Given the description of an element on the screen output the (x, y) to click on. 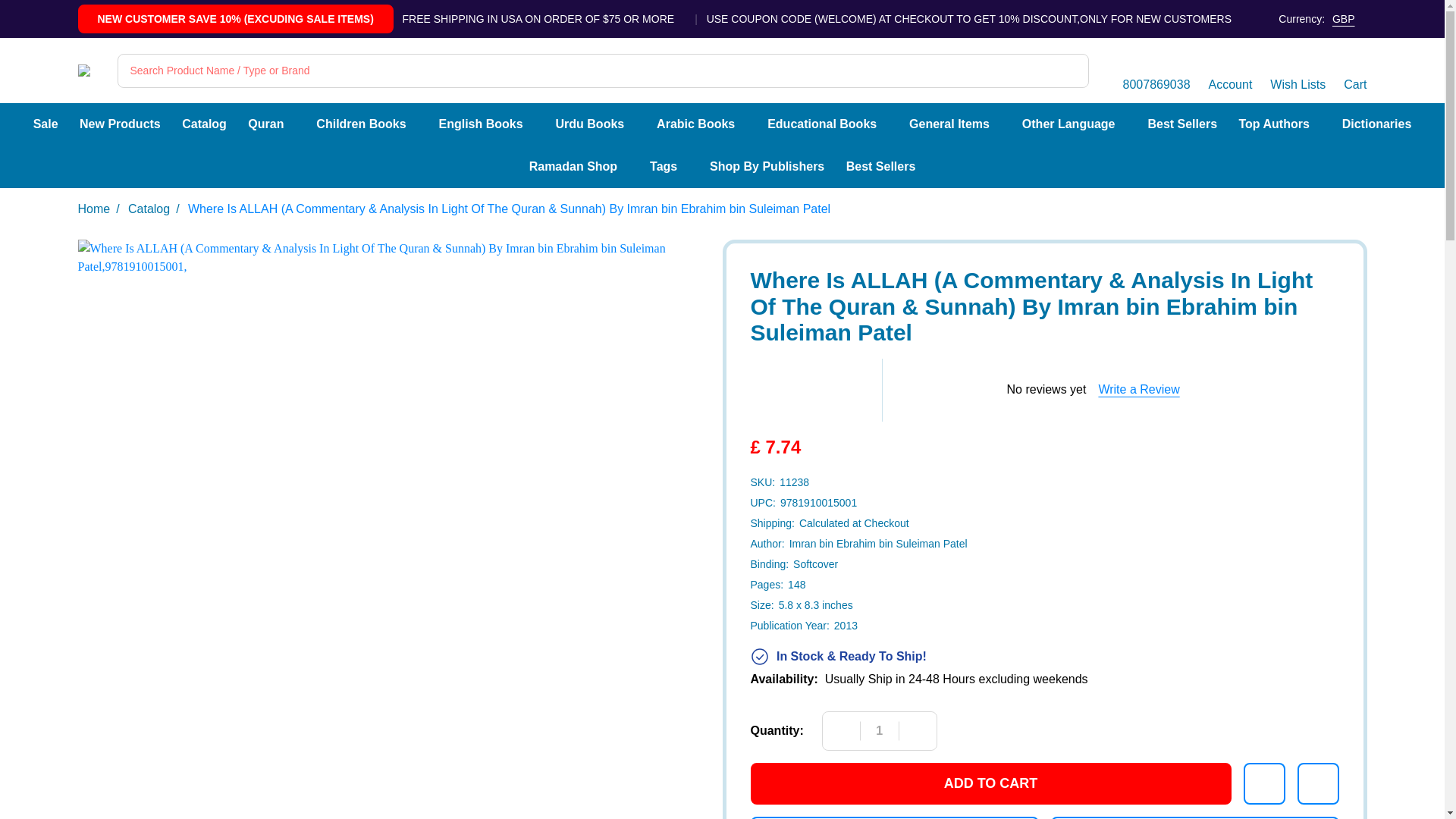
Cart (1355, 69)
More (531, 123)
Sale (45, 124)
Quran (265, 124)
More (632, 123)
More (743, 123)
More (885, 123)
SEARCH (1071, 70)
Buy Now (895, 817)
Wish Lists (1296, 69)
New Products (119, 124)
8007869038 (1156, 69)
Account (1230, 69)
Cart (1355, 69)
Account (1230, 69)
